Given the description of an element on the screen output the (x, y) to click on. 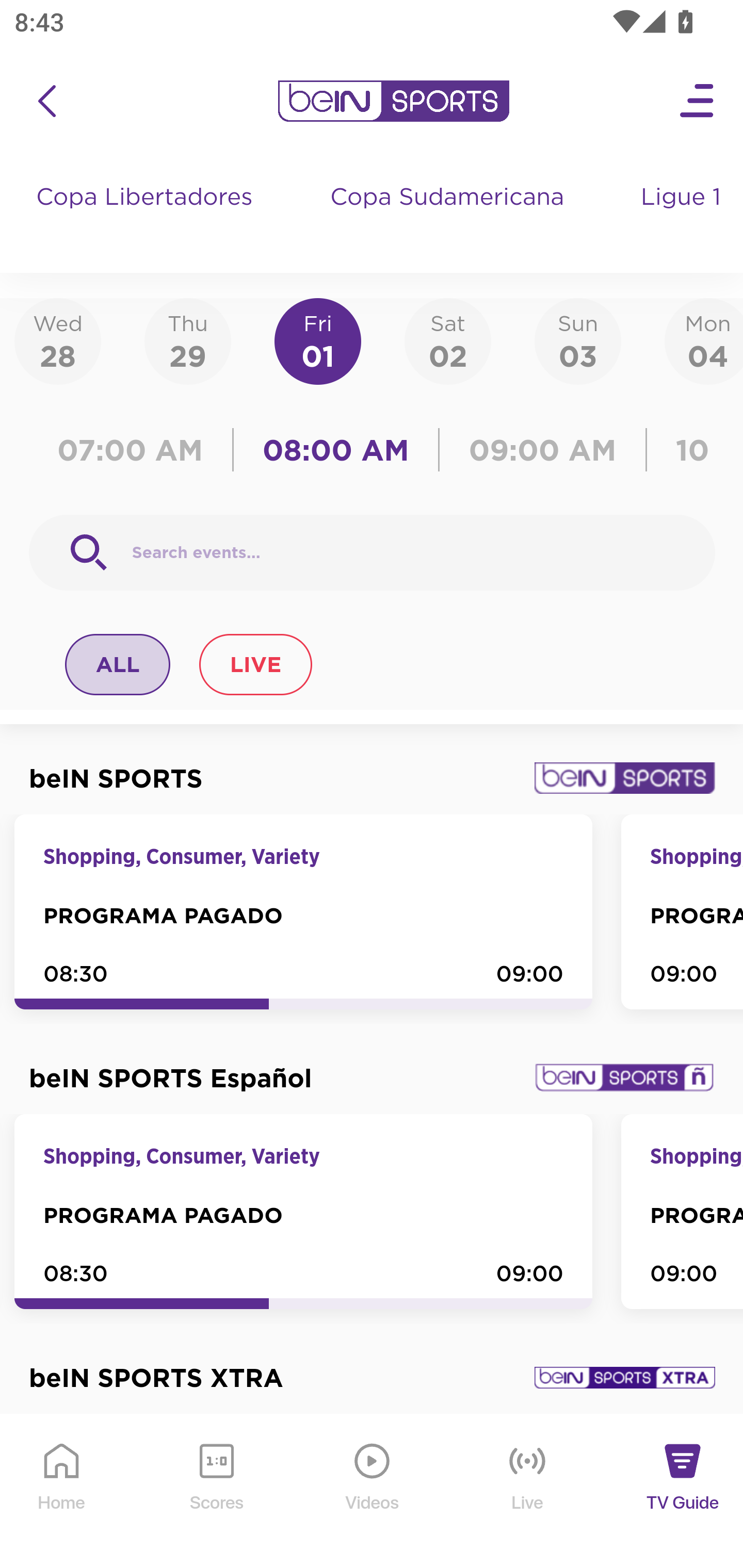
en-us?platform=mobile_android bein logo (392, 101)
icon back (46, 101)
Open Menu Icon (697, 101)
Copa Libertadores (146, 216)
Copa Sudamericana (448, 216)
Ligue 1 (682, 216)
Wed28 (58, 340)
Thu29 (187, 340)
Fri01 (318, 340)
Sat02 (447, 340)
Sun03 (578, 340)
Mon04 (703, 340)
07:00 AM (135, 449)
08:00 AM (336, 449)
09:00 AM (542, 449)
ALL (118, 663)
LIVE (255, 663)
Home Home Icon Home (61, 1491)
Scores Scores Icon Scores (216, 1491)
Videos Videos Icon Videos (372, 1491)
TV Guide TV Guide Icon TV Guide (682, 1491)
